Given the description of an element on the screen output the (x, y) to click on. 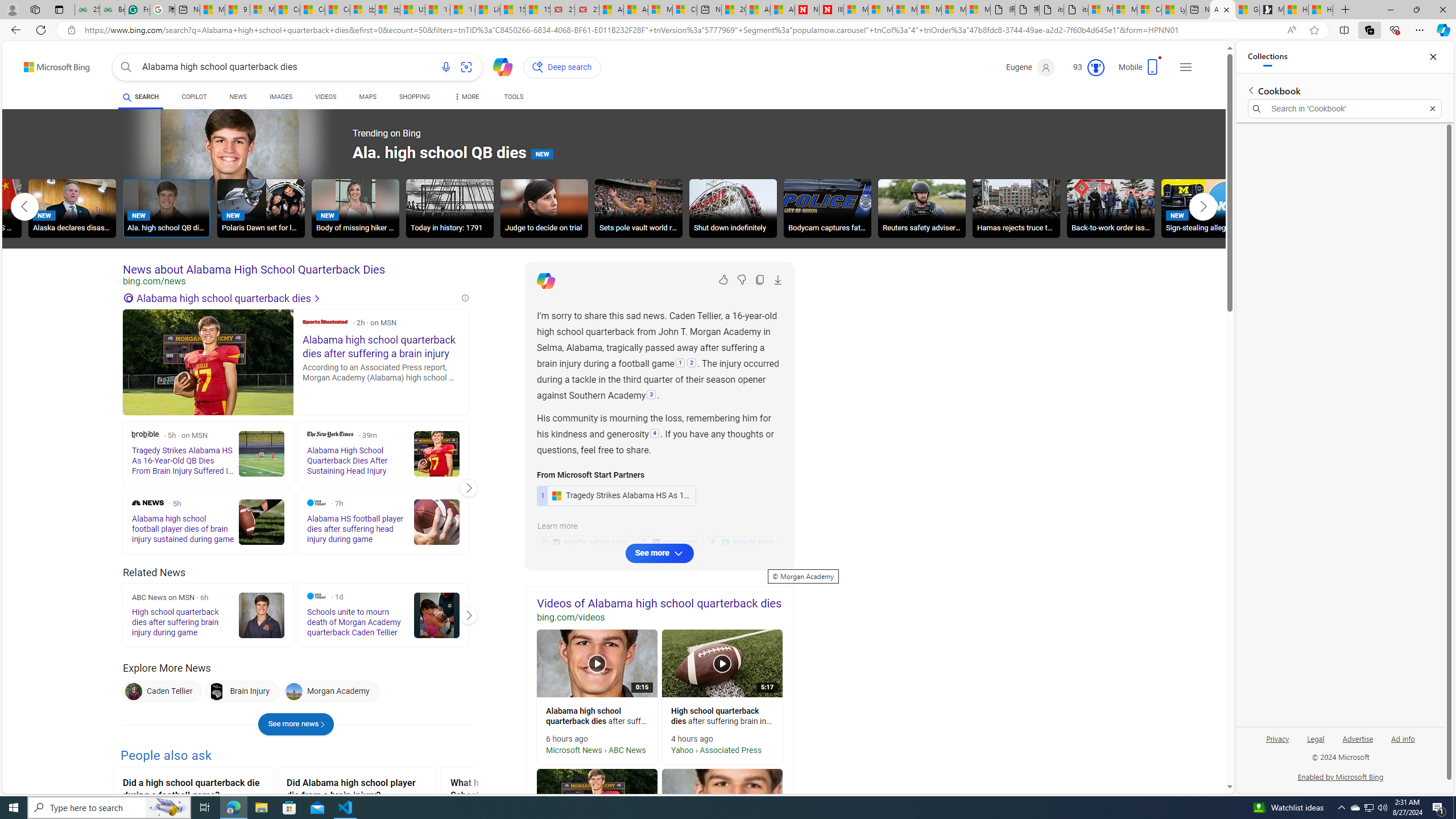
2:  (691, 363)
Mobile (1141, 70)
Back-to-work order issued (1110, 209)
Trending on Bing Ala. high school QB dies NEW (355, 153)
Alaska declares disaster NEW (72, 207)
Today in history: 1791 (449, 209)
15 Ways Modern Life Contradicts the Teachings of Jesus (536, 9)
